Given the description of an element on the screen output the (x, y) to click on. 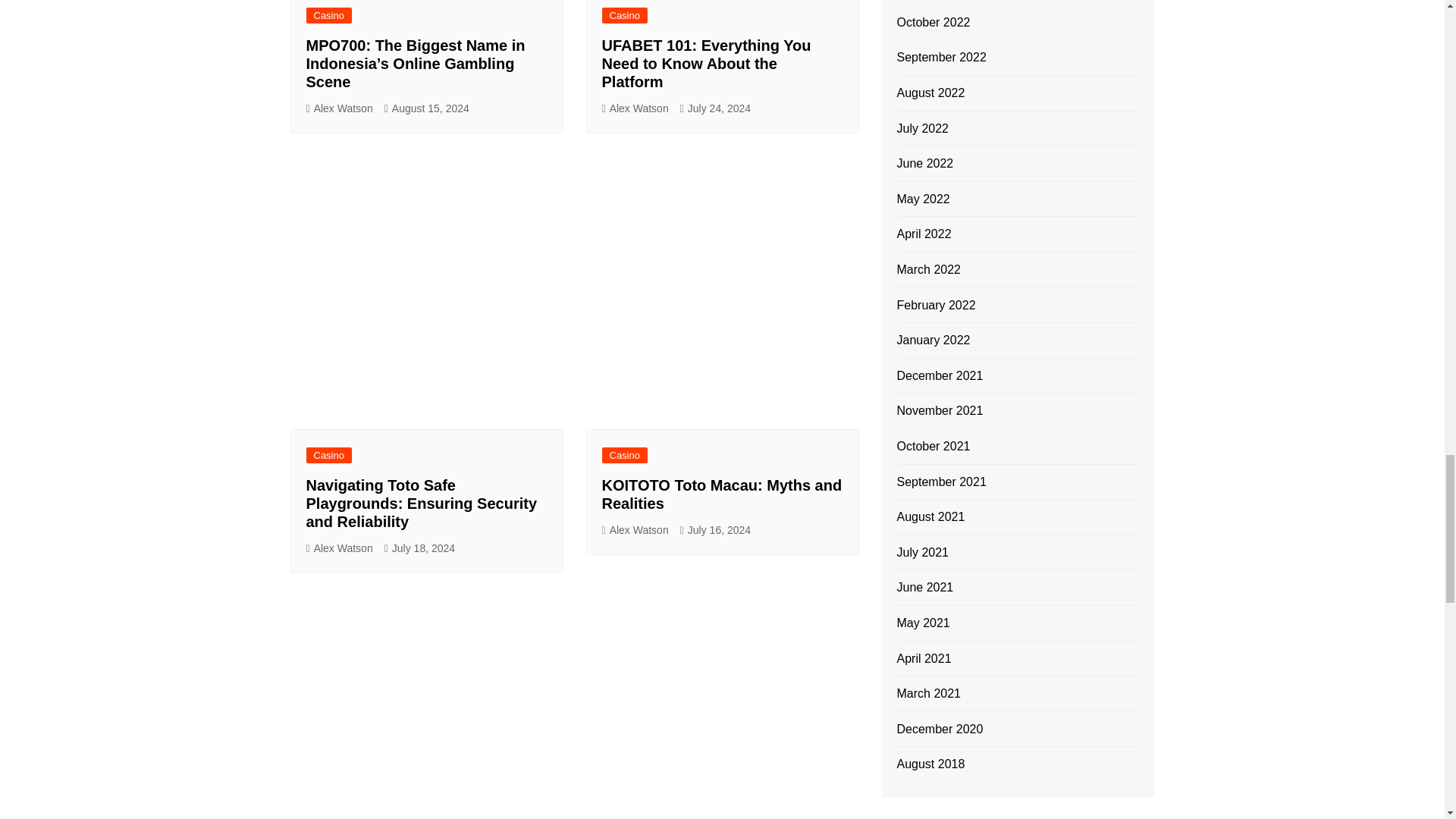
Casino (624, 455)
KOITOTO Toto Macau: Myths and Realities (722, 493)
July 18, 2024 (419, 548)
Casino (328, 15)
Alex Watson (338, 548)
July 24, 2024 (715, 108)
Alex Watson (635, 529)
Alex Watson (635, 108)
August 15, 2024 (426, 108)
